Given the description of an element on the screen output the (x, y) to click on. 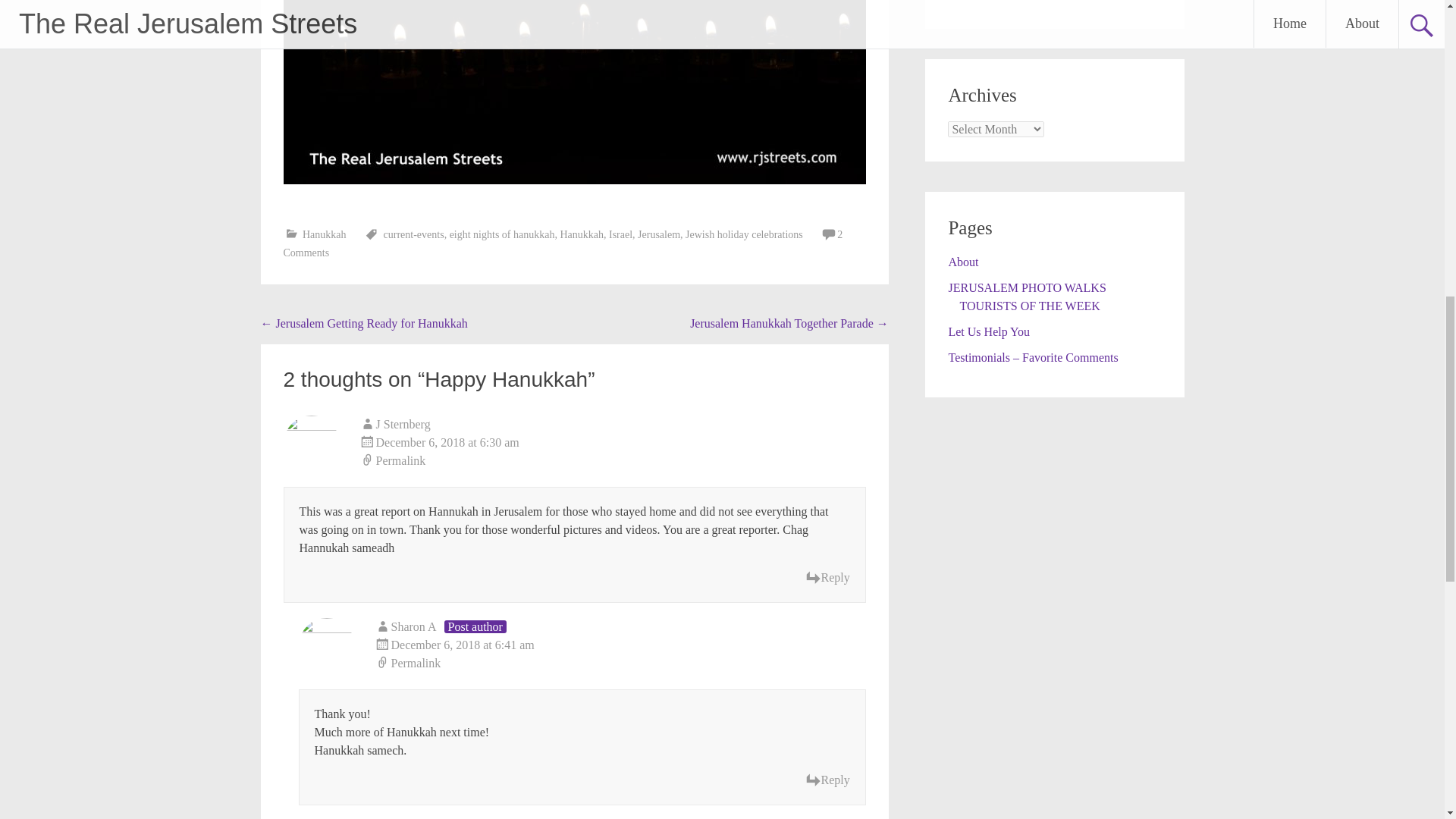
2 Comments (563, 243)
Permalink (620, 663)
Reply (827, 780)
Reply (827, 577)
Hanukkah (324, 234)
Hanukkah (581, 234)
About (962, 261)
TOURISTS OF THE WEEK (1029, 305)
Let Us Help You (988, 331)
Jewish holiday celebrations (744, 234)
